Given the description of an element on the screen output the (x, y) to click on. 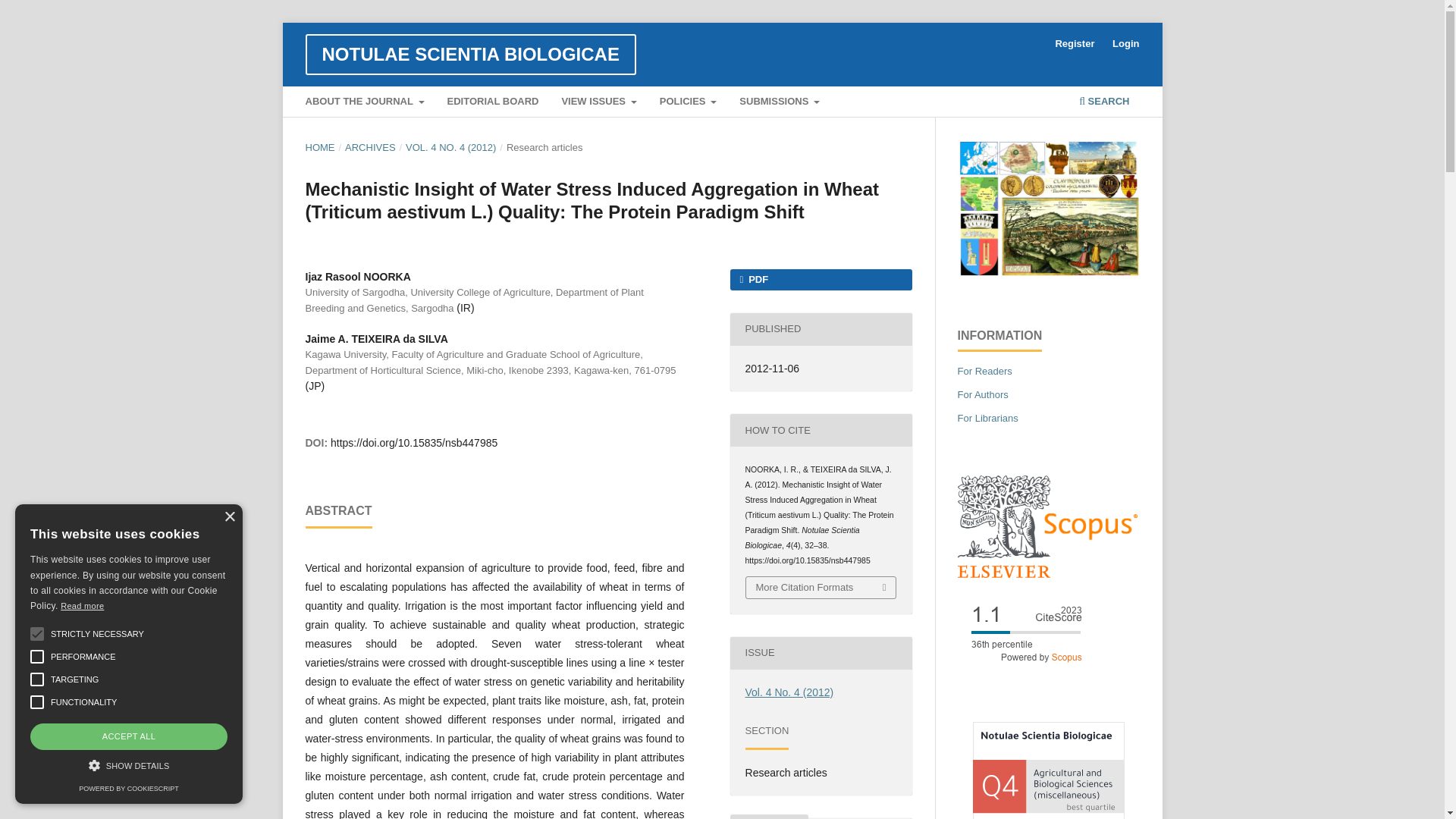
HOME (319, 147)
POLICIES (687, 103)
ARCHIVES (370, 147)
Scopus Indexation Anouncement (1047, 573)
EDITORIAL BOARD (492, 103)
Register (1074, 43)
Scopus CS2023 (1024, 666)
Login (1126, 43)
SEARCH (1104, 103)
NOTULAE SCIENTIA BIOLOGICAE (473, 54)
More Citation Formats (820, 587)
Consent Management Platform (127, 788)
SUBMISSIONS (780, 103)
ABOUT THE JOURNAL (364, 103)
VIEW ISSUES (599, 103)
